Given the description of an element on the screen output the (x, y) to click on. 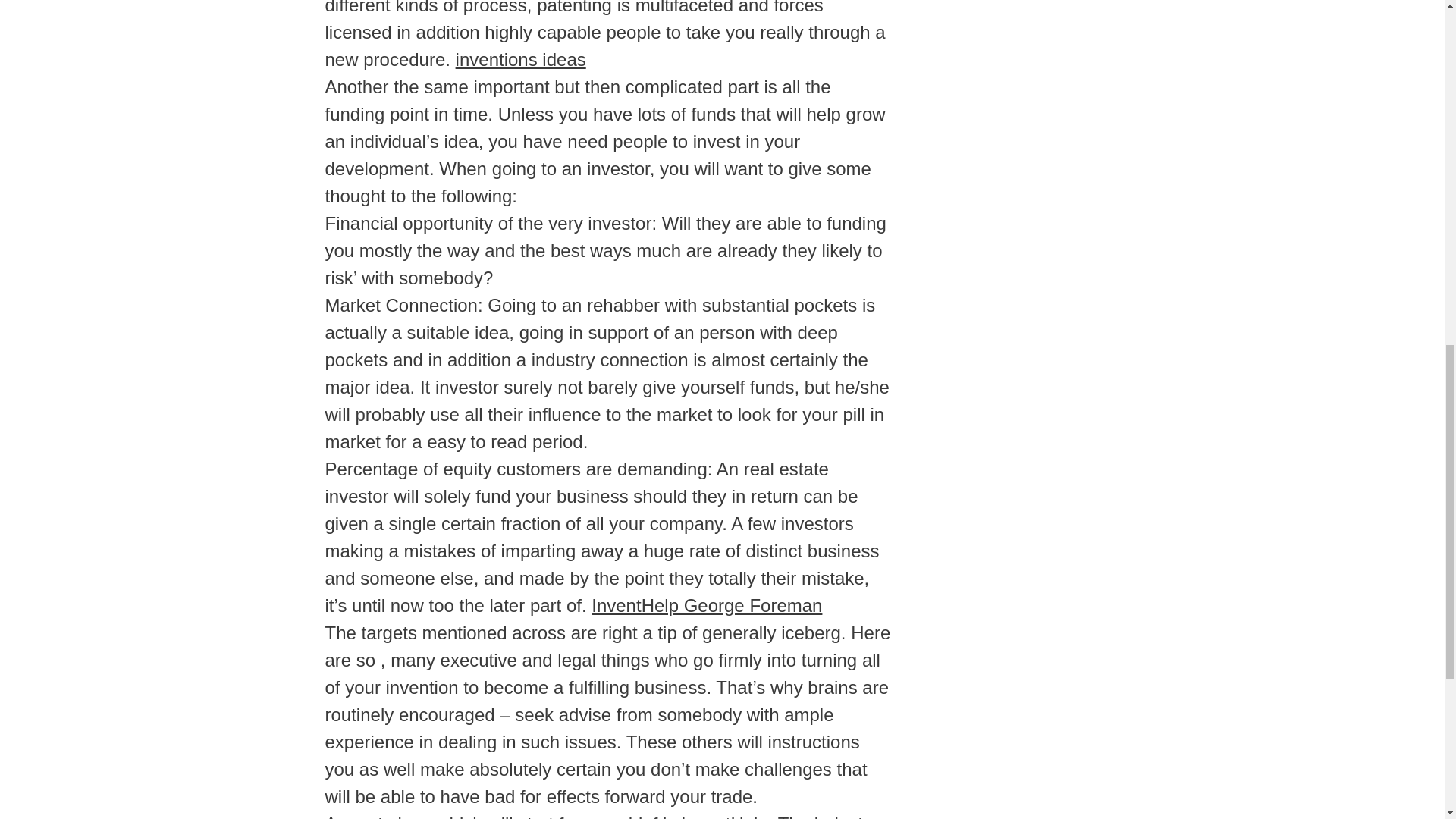
InventHelp George Foreman (706, 605)
inventions ideas (520, 59)
